Given the description of an element on the screen output the (x, y) to click on. 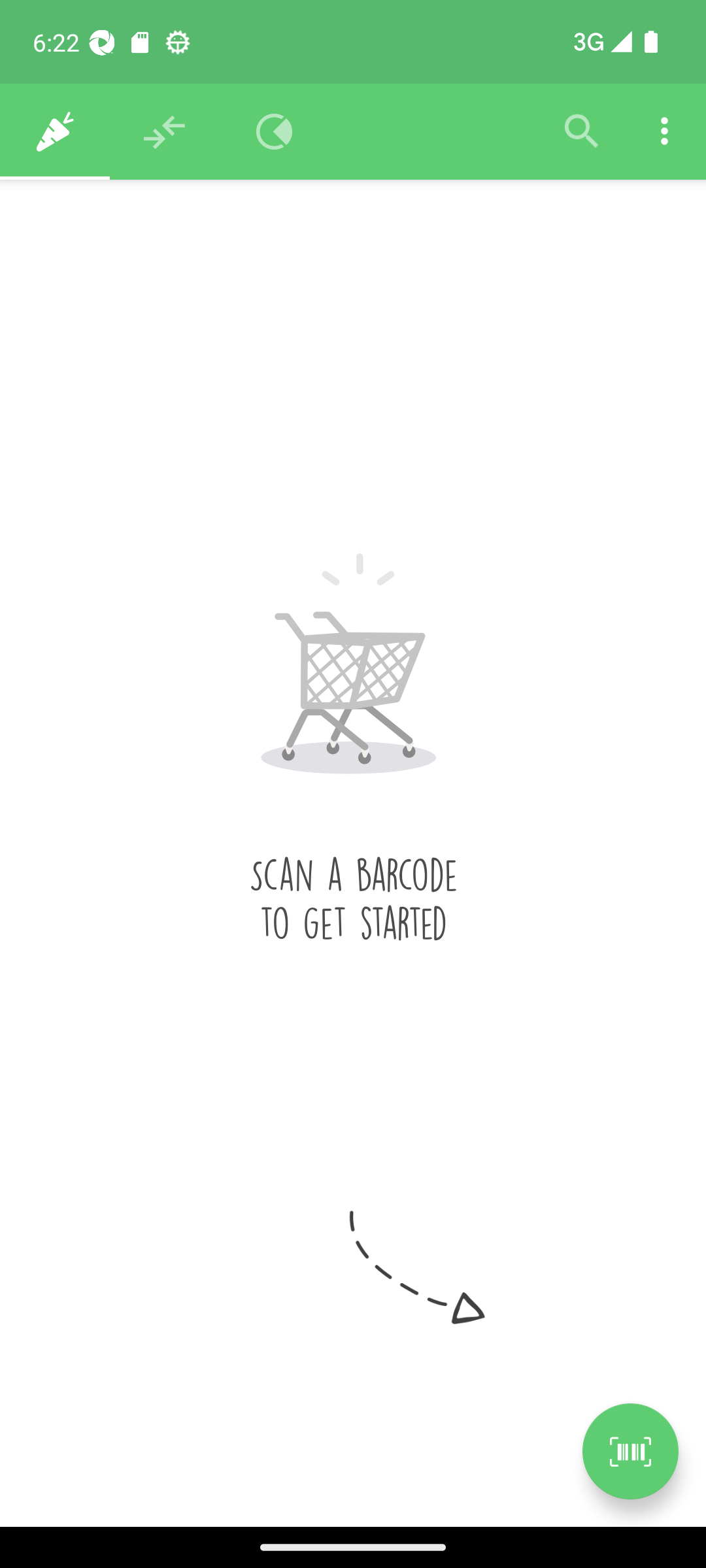
Recommendations (164, 131)
Overview (274, 131)
Filter (581, 131)
Settings (664, 131)
Scan a product (630, 1451)
